Given the description of an element on the screen output the (x, y) to click on. 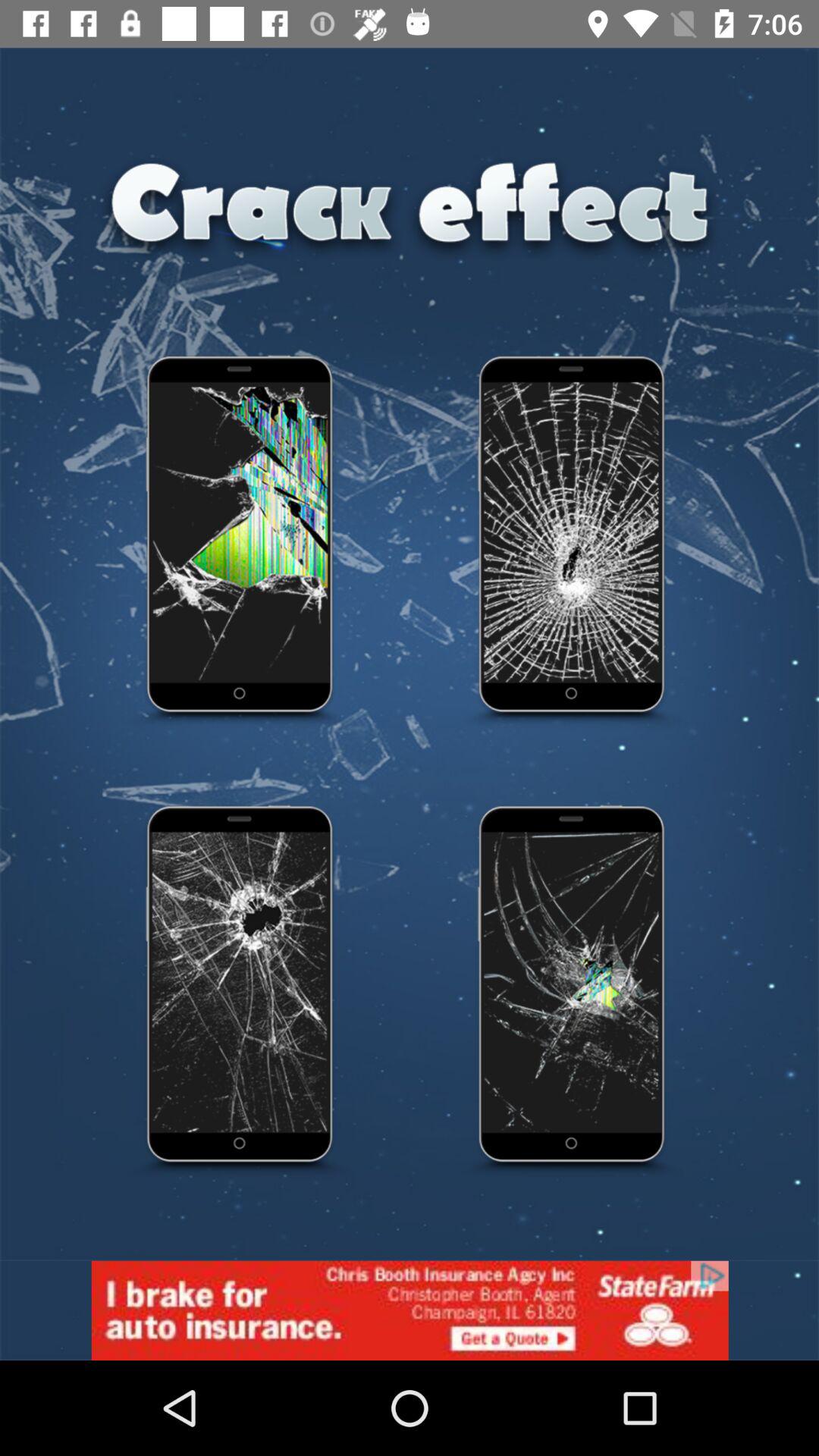
select a cell (572, 542)
